Given the description of an element on the screen output the (x, y) to click on. 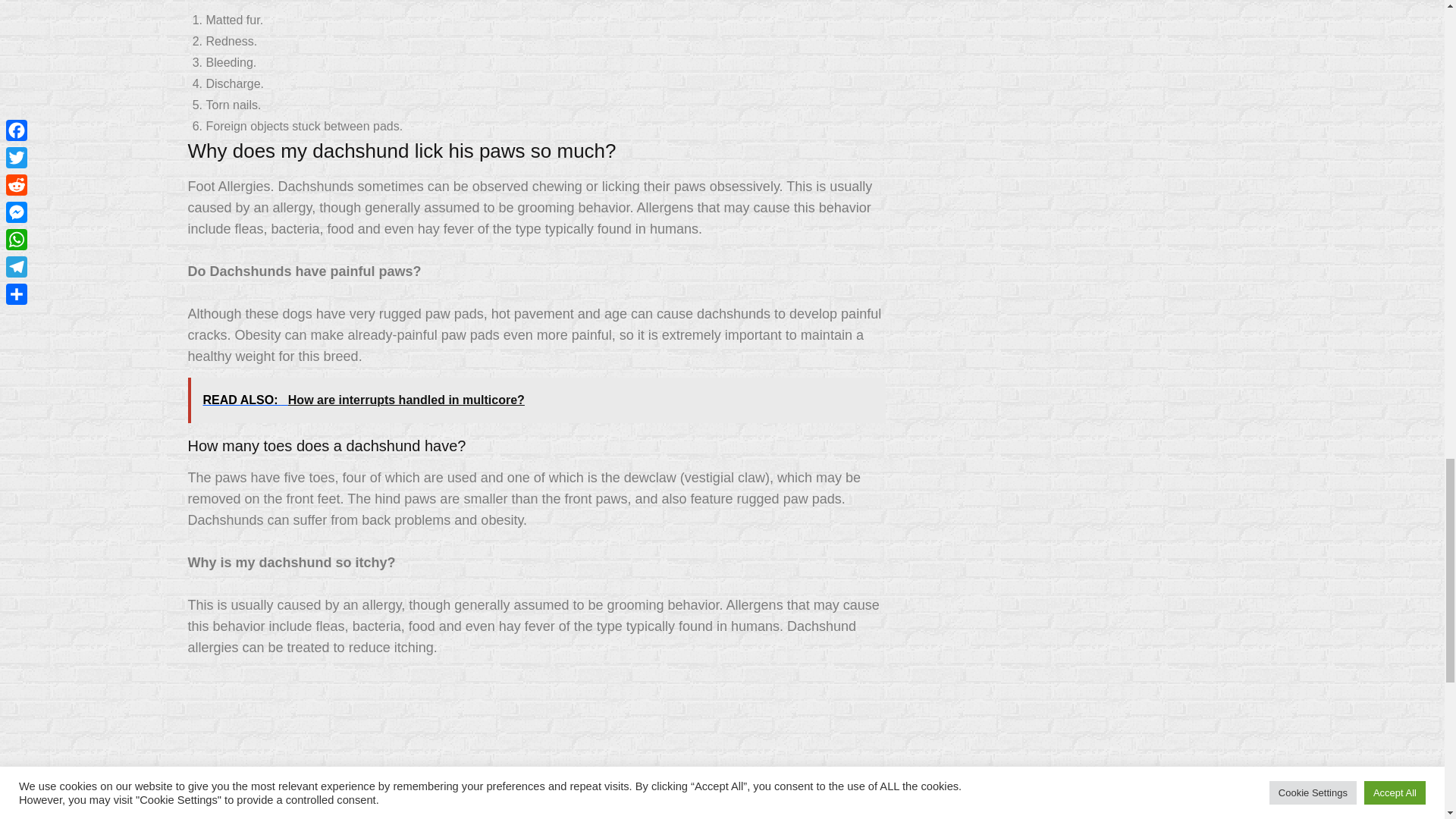
READ ALSO:   How are interrupts handled in multicore? (536, 400)
